Given the description of an element on the screen output the (x, y) to click on. 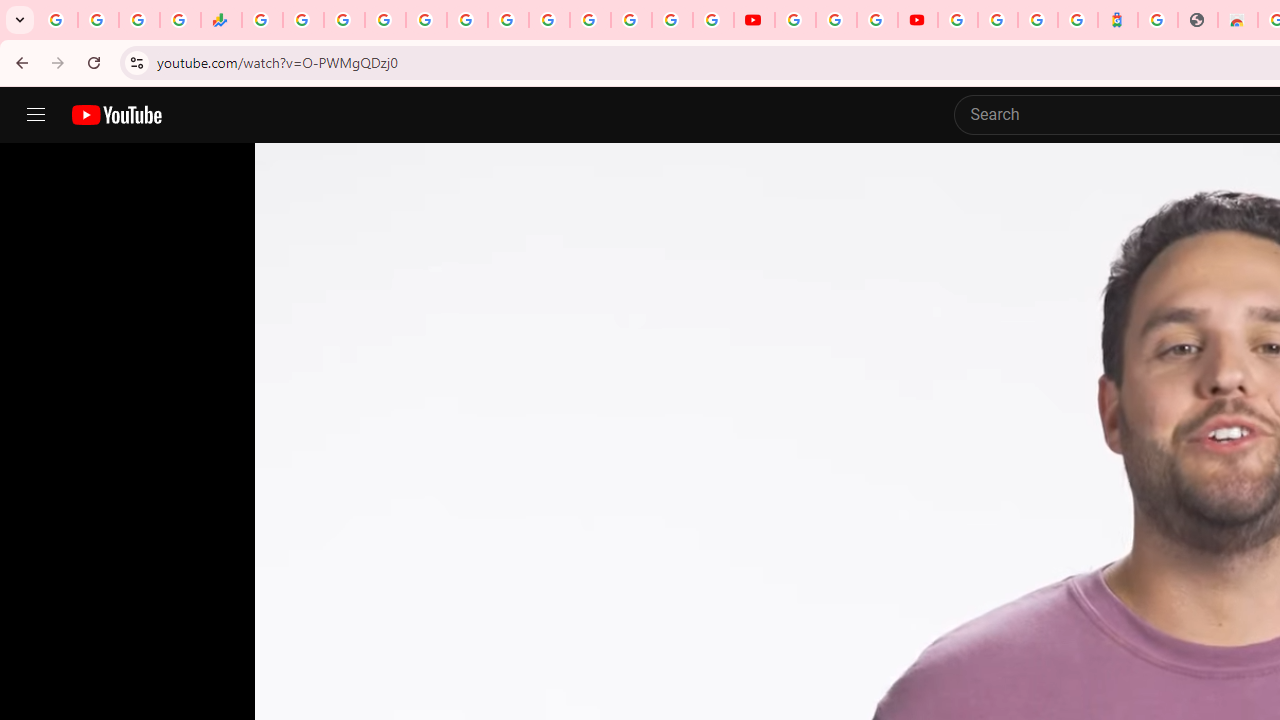
Sign in - Google Accounts (957, 20)
Android TV Policies and Guidelines - Transparency Center (507, 20)
Sign in - Google Accounts (997, 20)
Guide (35, 115)
Google Account Help (836, 20)
Chrome Web Store - Household (1238, 20)
